Given the description of an element on the screen output the (x, y) to click on. 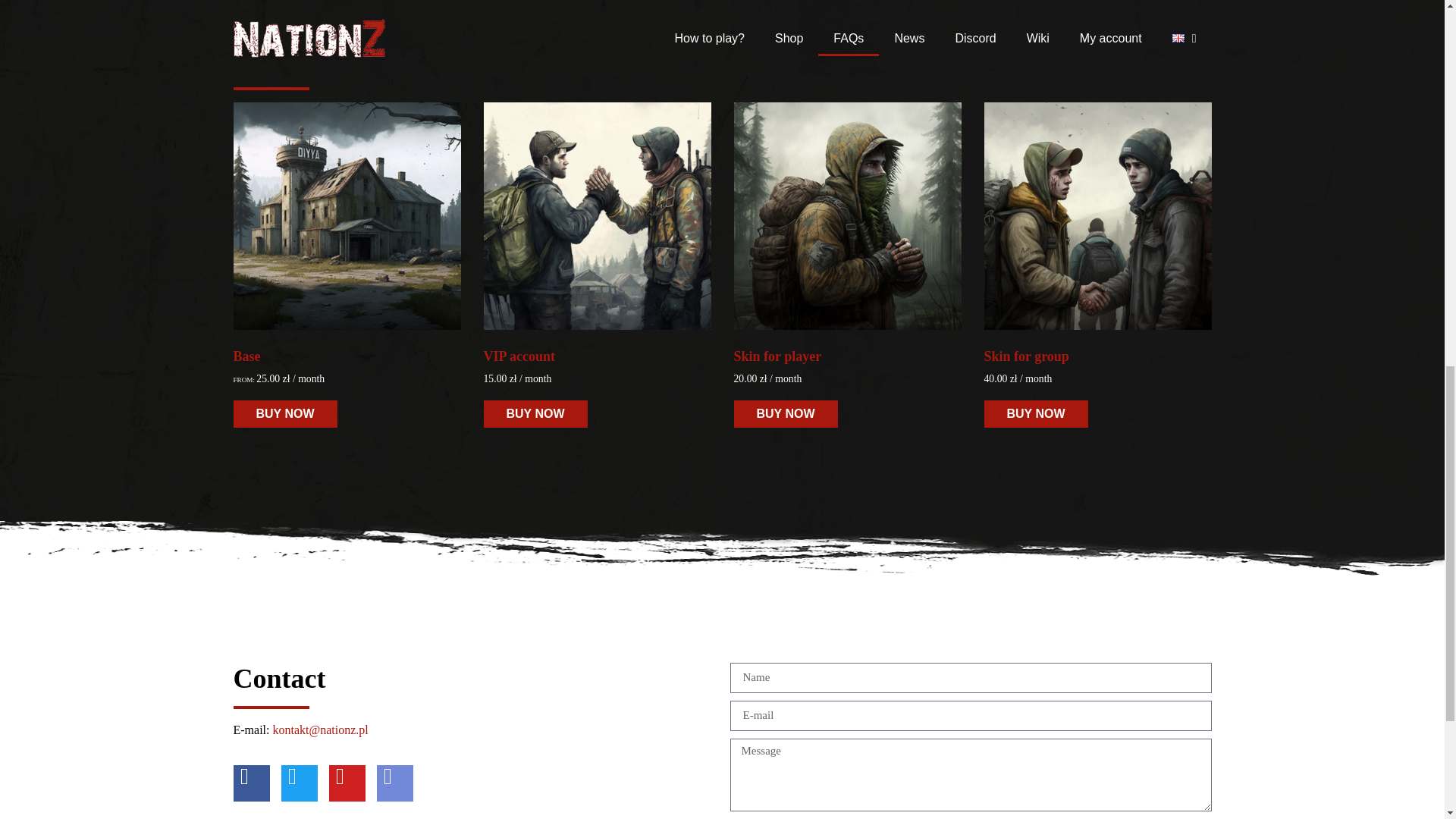
BUY NOW (785, 413)
BUY NOW (1035, 413)
BUY NOW (535, 413)
BUY NOW (284, 413)
